Given the description of an element on the screen output the (x, y) to click on. 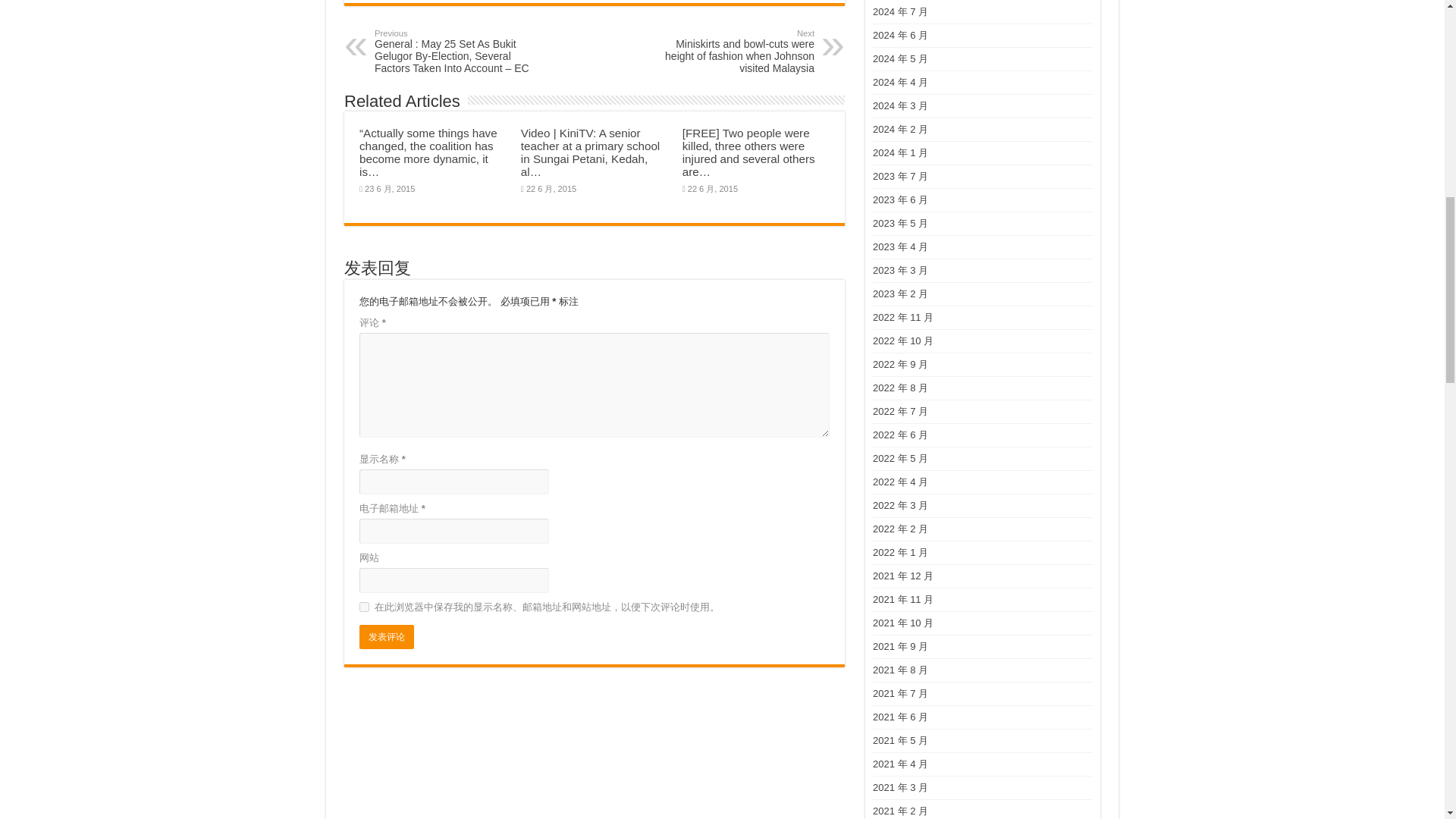
yes (364, 606)
Scroll To Top (1421, 60)
